Given the description of an element on the screen output the (x, y) to click on. 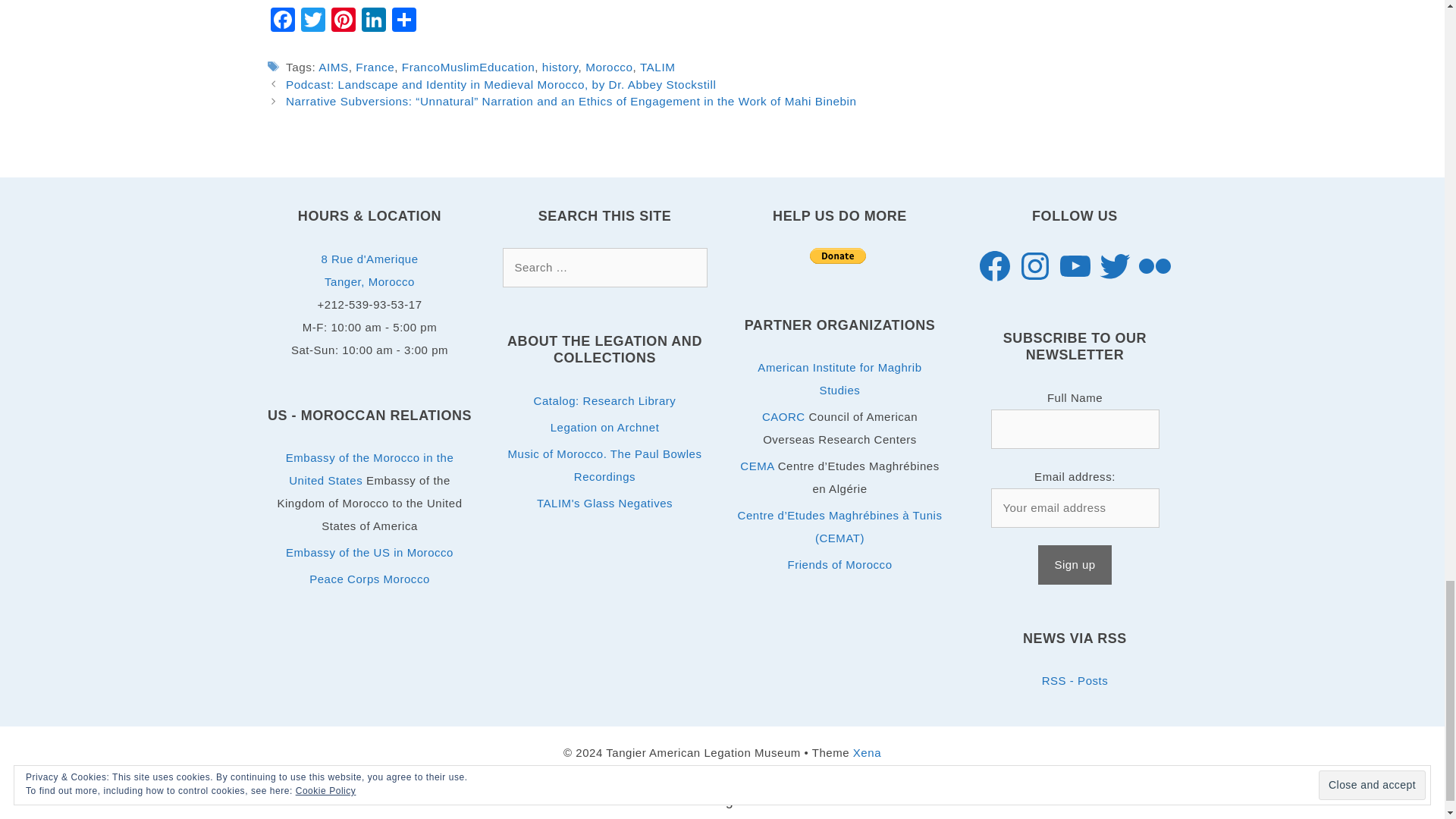
Sign up (1074, 564)
